Given the description of an element on the screen output the (x, y) to click on. 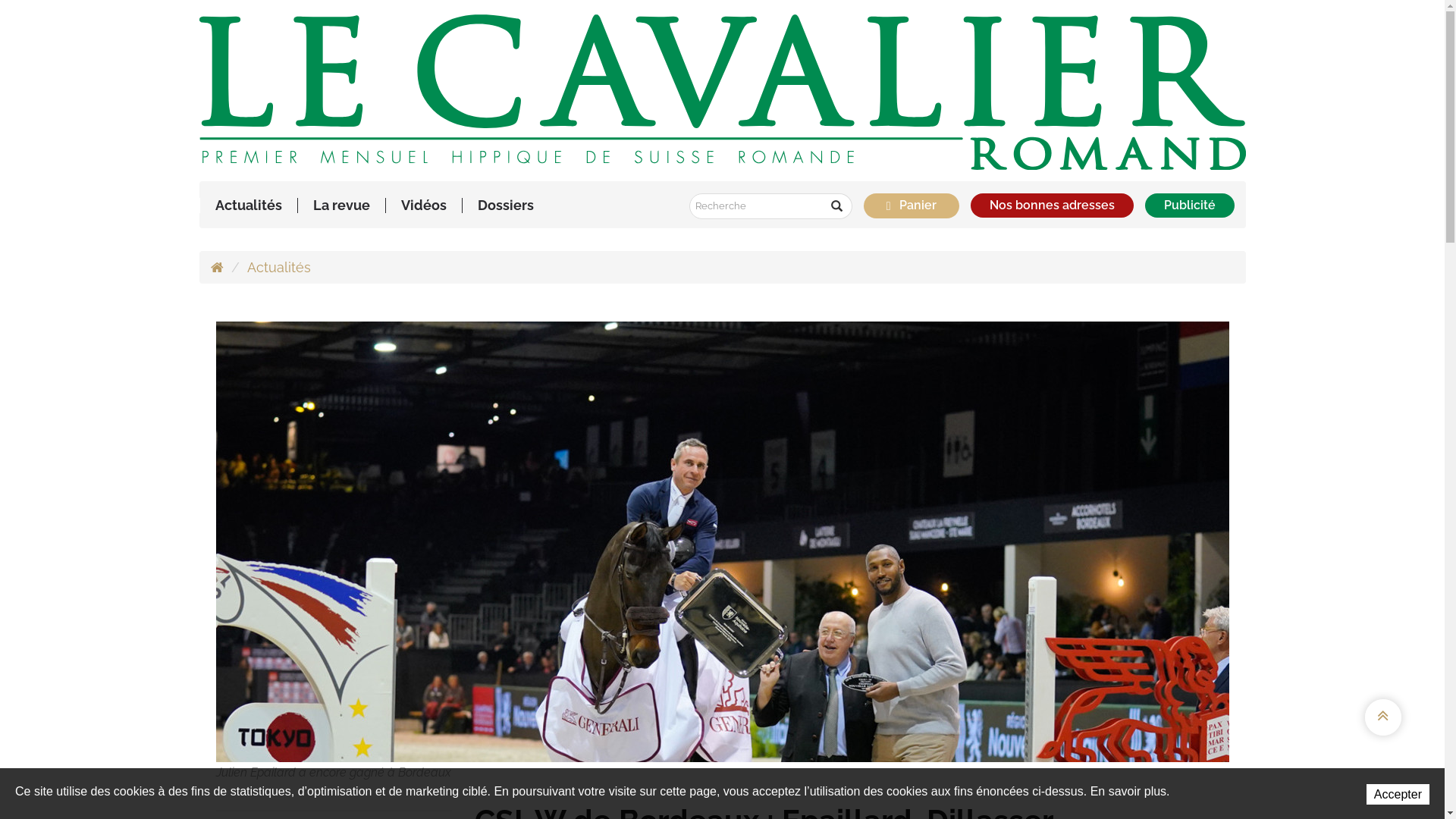
Julien Epaillard,Bordeaux Element type: hover (721, 540)
Nos bonnes adresses Element type: text (1051, 205)
Accepter Element type: text (1397, 794)
Dossiers Element type: text (505, 205)
La revue Element type: text (340, 205)
Panier Element type: text (917, 204)
